Given the description of an element on the screen output the (x, y) to click on. 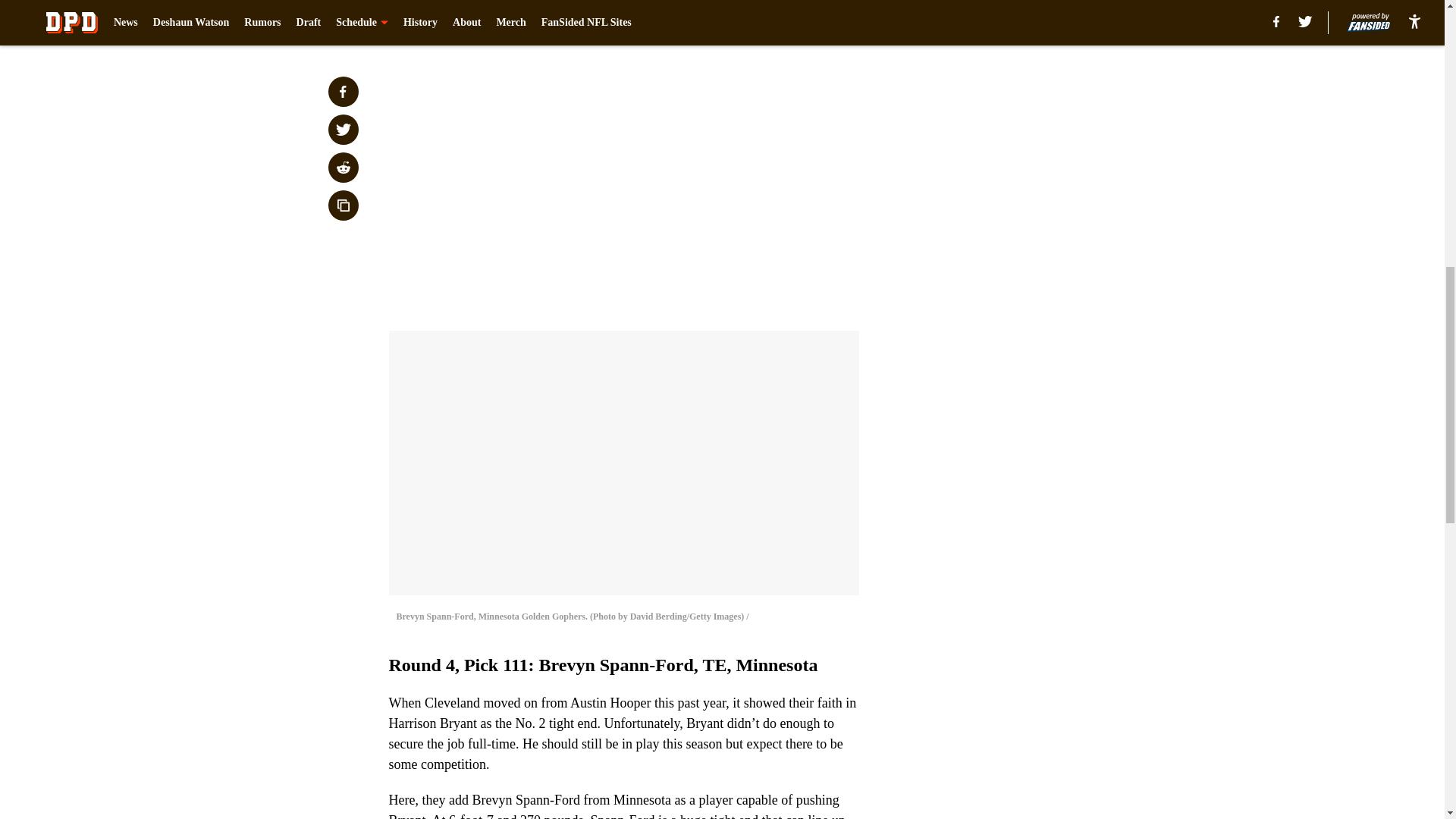
Prev (433, 20)
Next (813, 20)
